Given the description of an element on the screen output the (x, y) to click on. 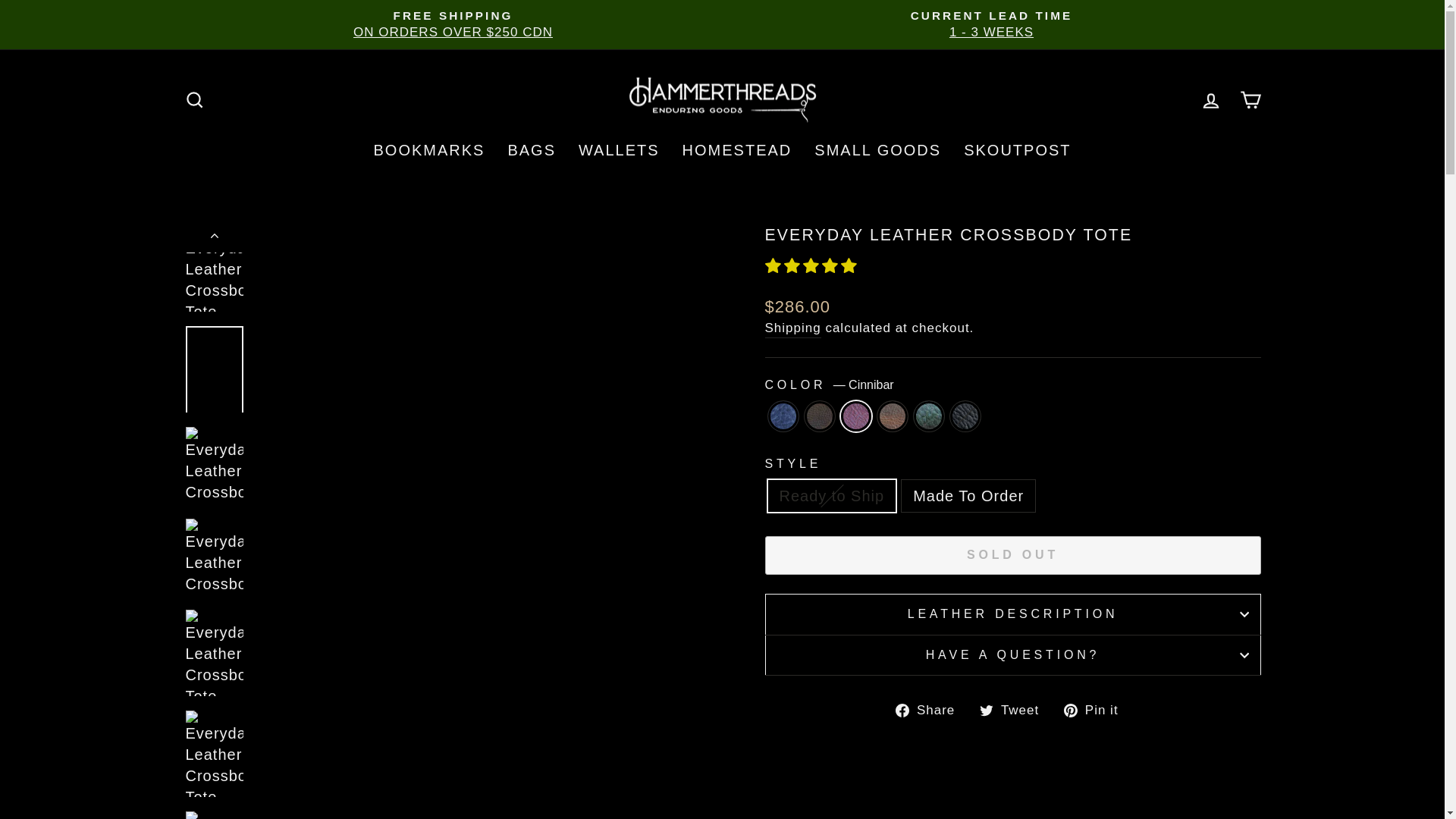
Share on Facebook (930, 708)
SEARCH (194, 99)
Pin on Pinterest (1096, 708)
